Given the description of an element on the screen output the (x, y) to click on. 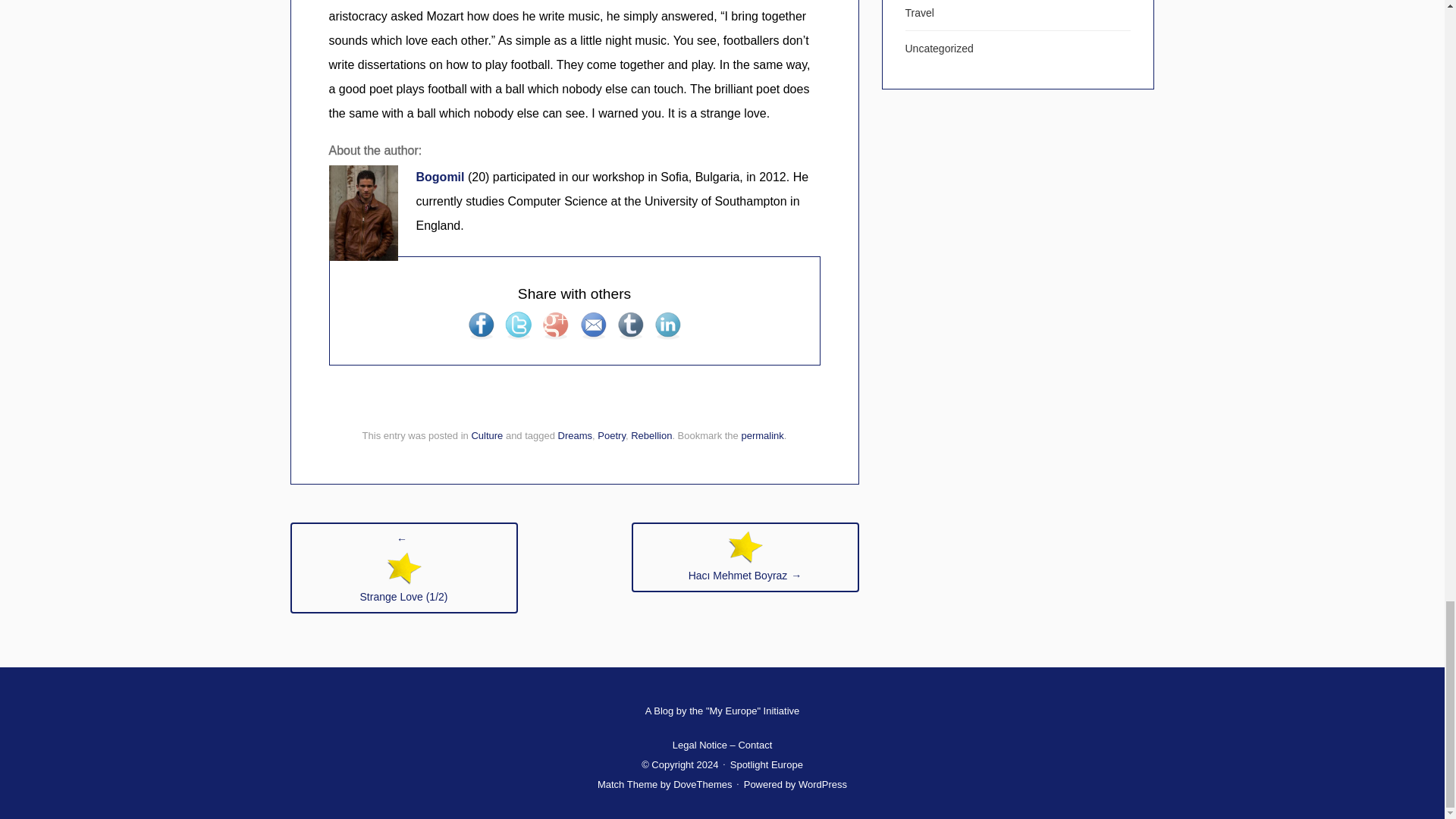
Share via Twitter (518, 323)
Share via Tumblr (630, 323)
Share via Facebook (480, 323)
Share via LinkedIn (667, 323)
Share via Email (593, 323)
Share via Google (555, 323)
Bogomil (440, 176)
